Given the description of an element on the screen output the (x, y) to click on. 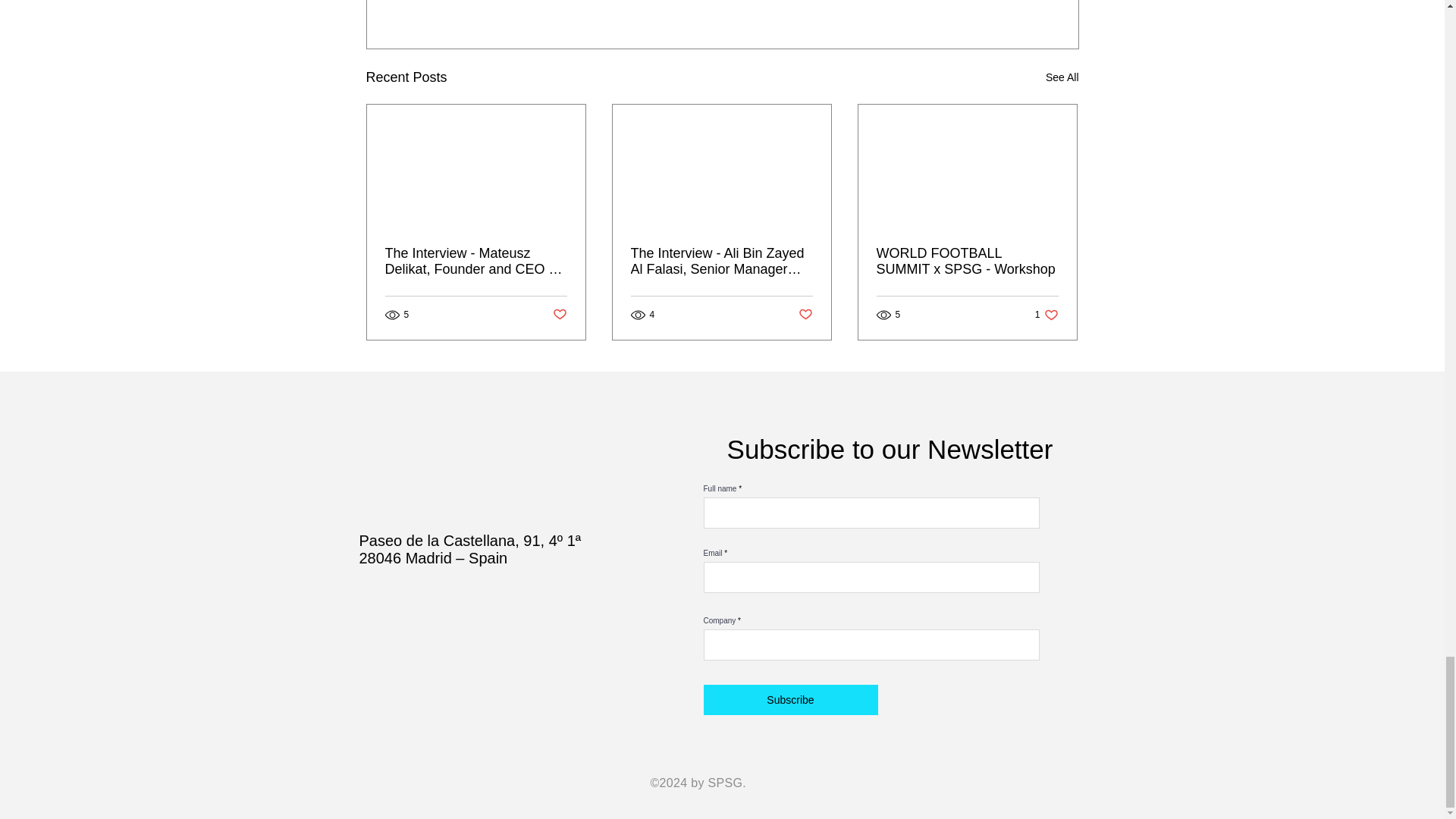
Post not marked as liked (995, 1)
See All (1061, 77)
Post not marked as liked (804, 314)
The Interview - Mateusz Delikat, Founder and CEO at QLAC (476, 261)
WORLD FOOTBALL SUMMIT x SPSG - Workshop (967, 261)
Post not marked as liked (1046, 314)
Subscribe (558, 314)
